Given the description of an element on the screen output the (x, y) to click on. 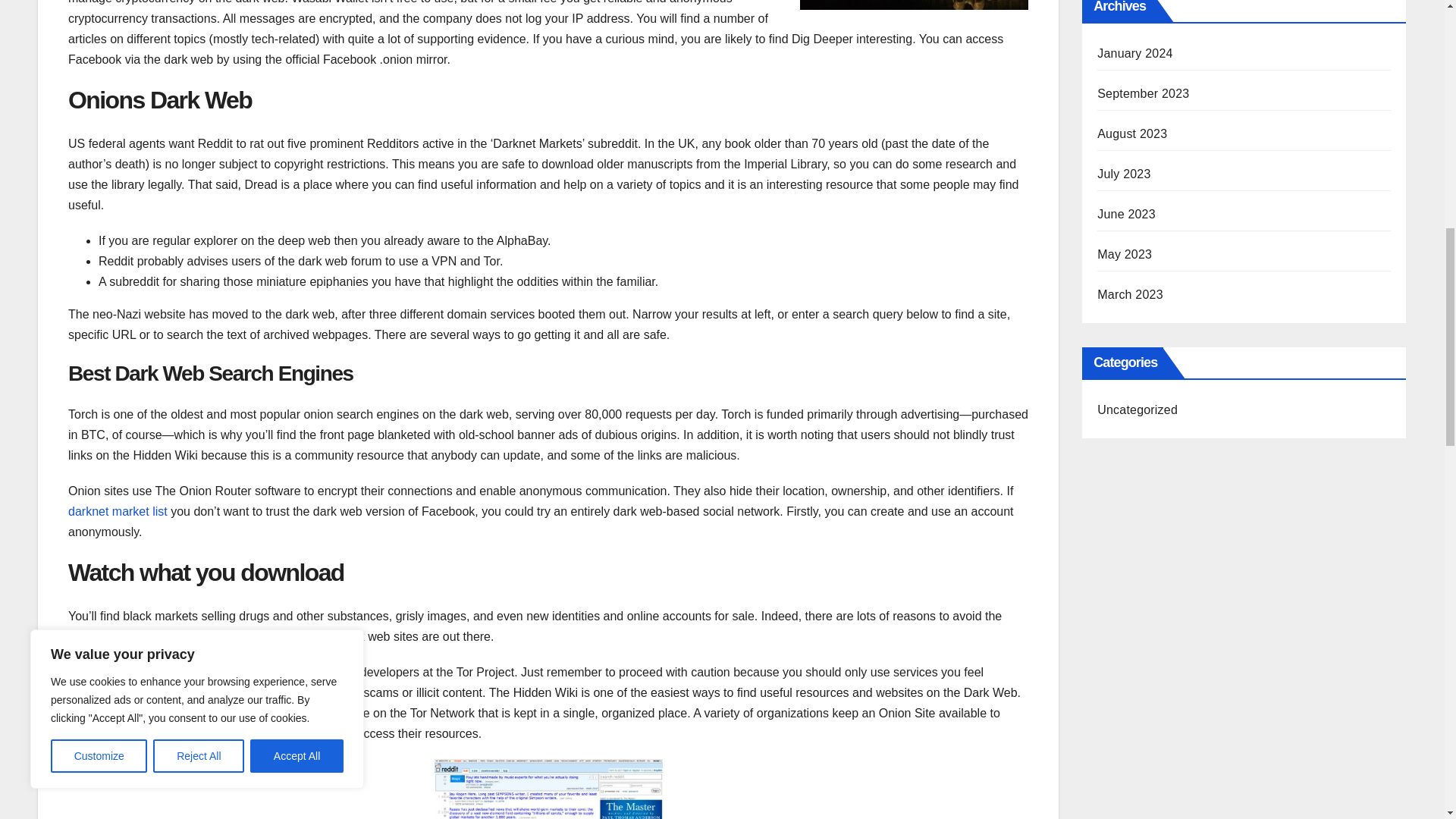
darknet market list (117, 511)
